Given the description of an element on the screen output the (x, y) to click on. 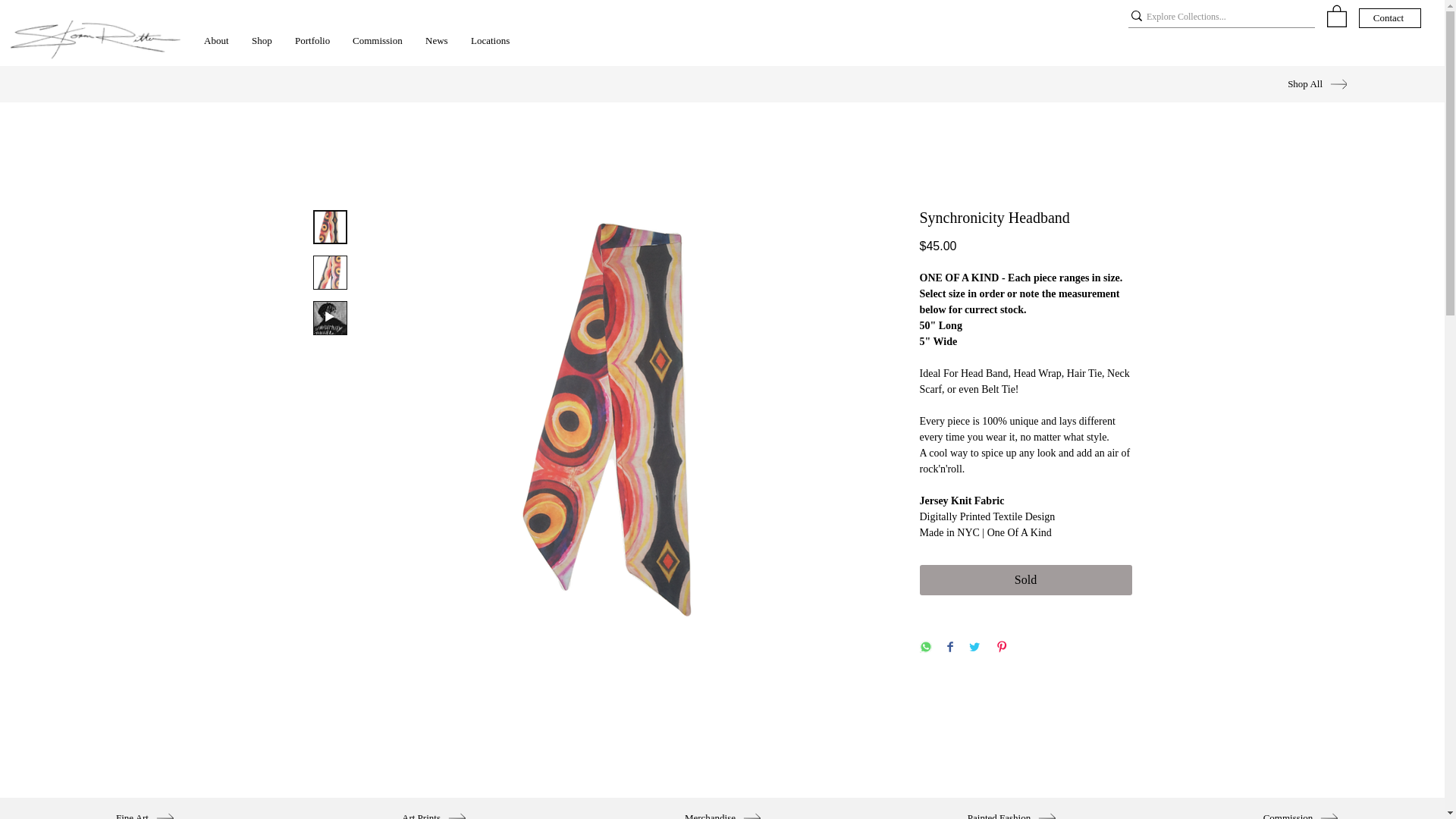
Contact (1389, 17)
Portfolio (311, 40)
Fine Art (143, 811)
Sold (1024, 580)
Art Prints (433, 811)
Commission (376, 40)
Merchandise (721, 811)
Commission (1299, 811)
News (436, 40)
Shop All (1272, 83)
Painted Fashion (1011, 811)
